Given the description of an element on the screen output the (x, y) to click on. 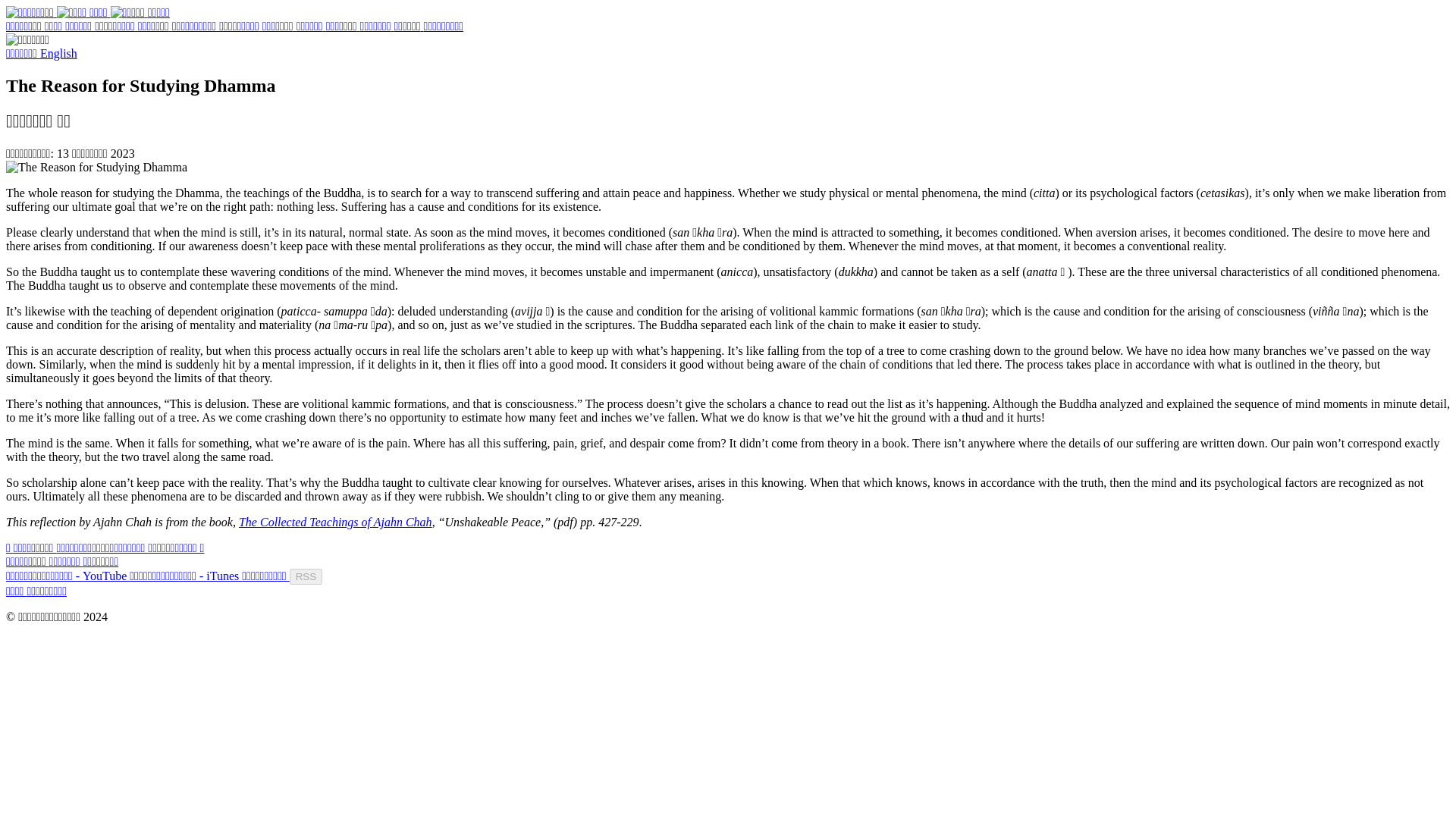
RSS (305, 576)
English (58, 52)
The Collected Teachings of Ajahn Chah (335, 521)
